Given the description of an element on the screen output the (x, y) to click on. 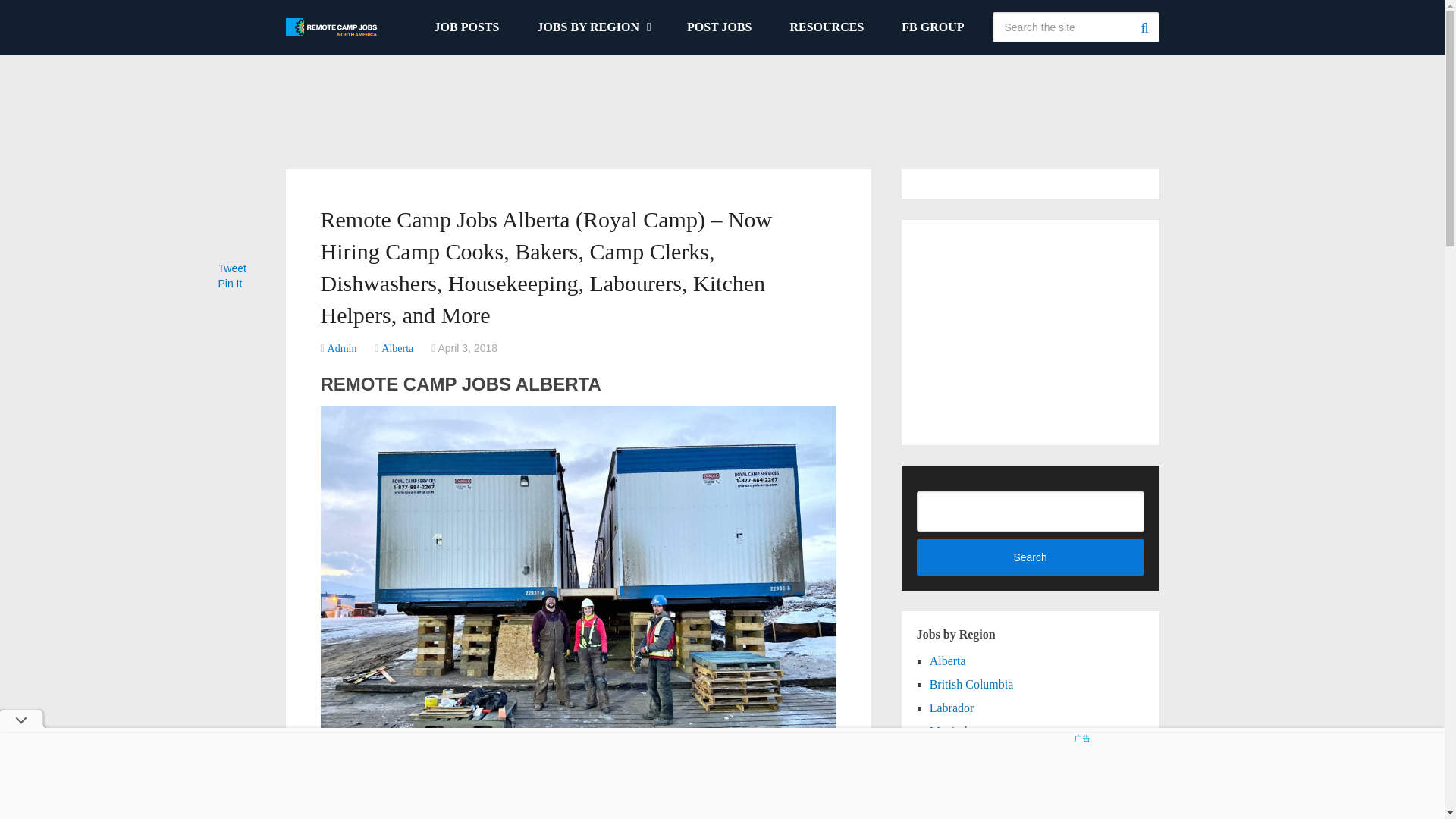
Posts by Admin (341, 348)
POST JOBS (719, 27)
View all posts in Alberta (397, 348)
FB GROUP (932, 27)
Advertisement (721, 103)
Search (1143, 27)
Alberta (397, 348)
JOBS BY REGION (593, 27)
RESOURCES (826, 27)
JOB POSTS (466, 27)
Admin (341, 348)
